Given the description of an element on the screen output the (x, y) to click on. 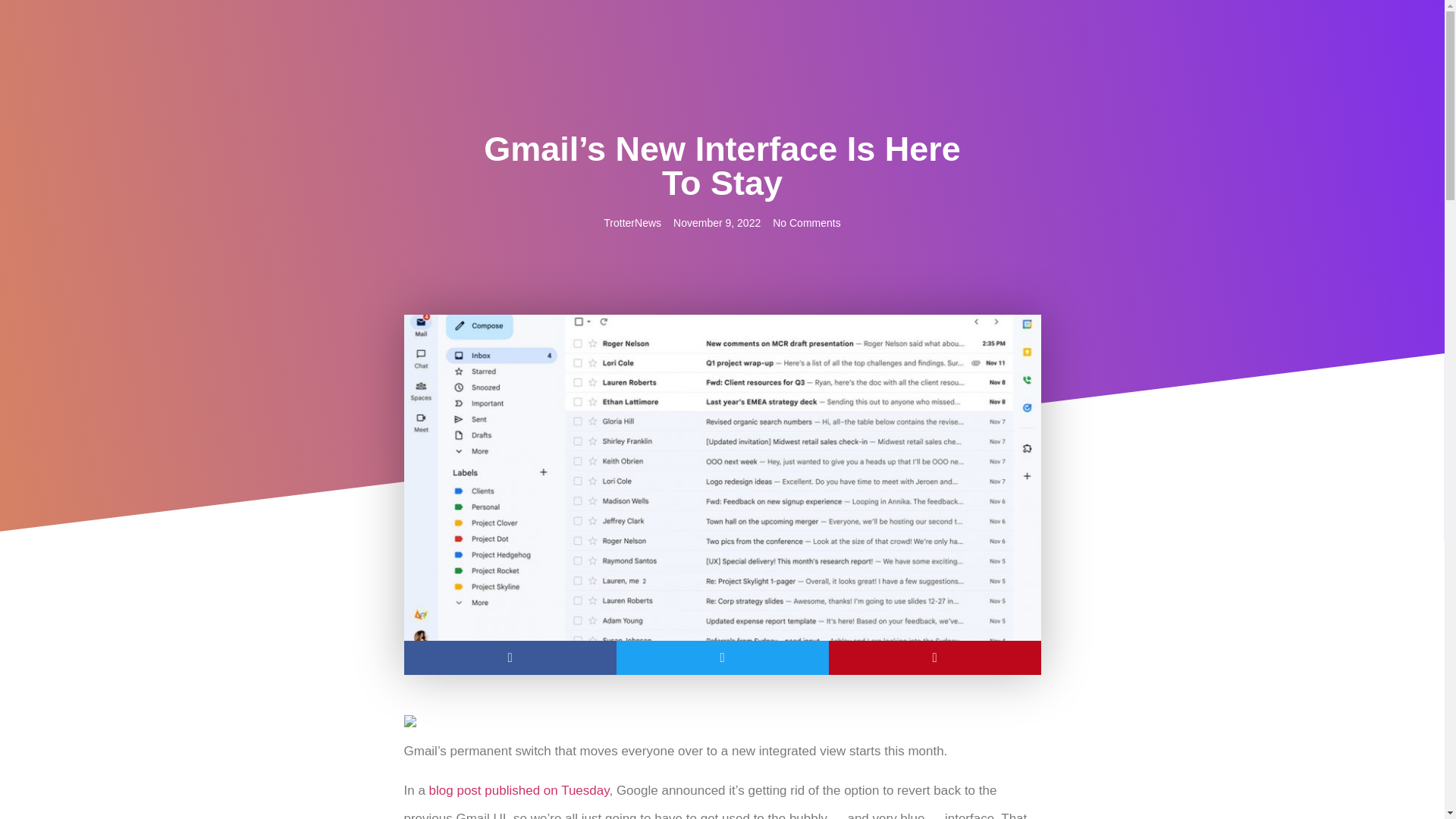
No Comments (806, 222)
blog post published on Tuesday (519, 789)
TrotterNews (632, 222)
November 9, 2022 (716, 222)
